Given the description of an element on the screen output the (x, y) to click on. 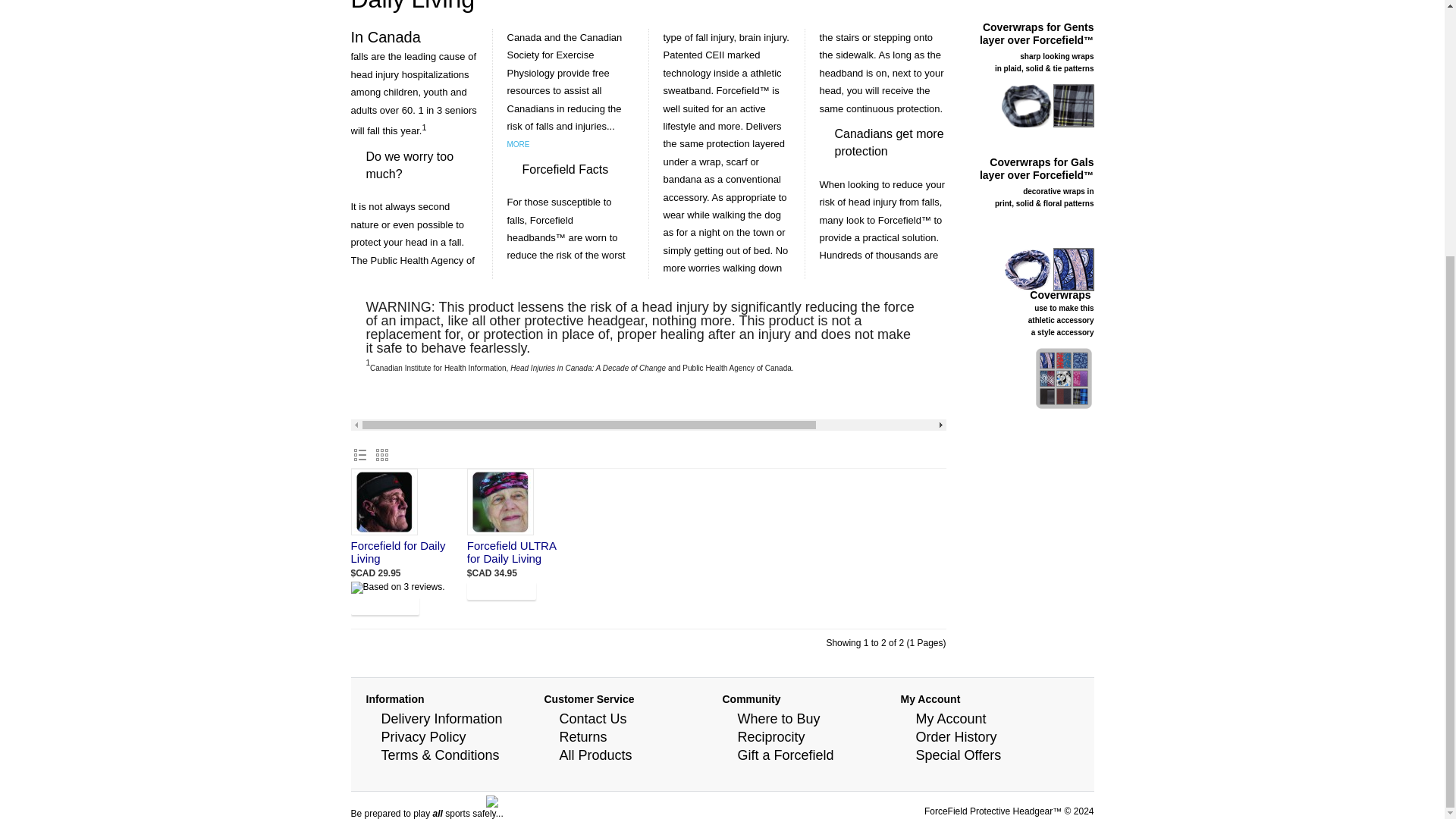
Forcefield ULTRA for Daily Living (500, 501)
CoverWrap Accessory for Gals (1047, 269)
Coverwap for Gents (1047, 105)
Forcefield for Daily Living (383, 501)
